Given the description of an element on the screen output the (x, y) to click on. 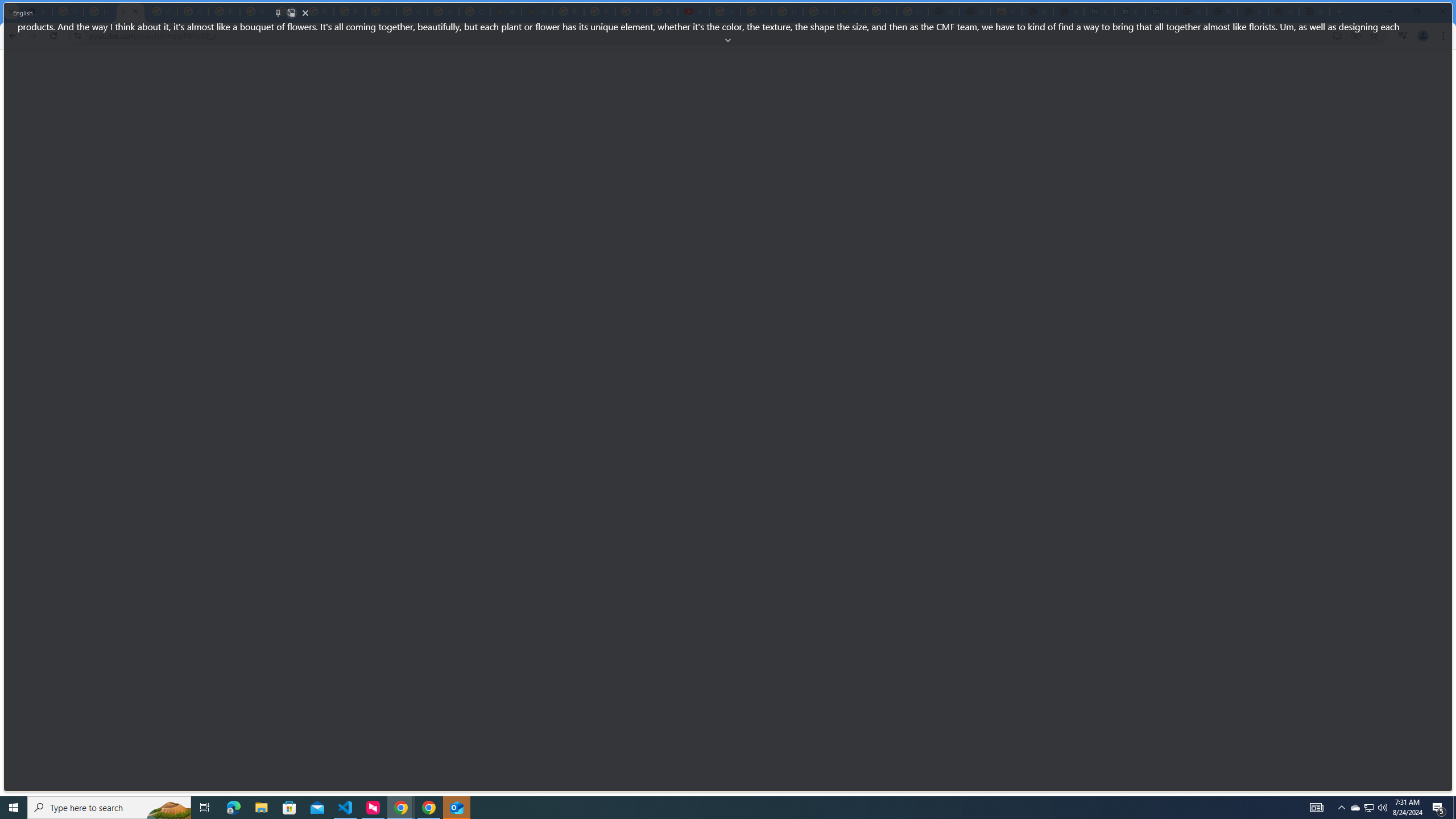
Copyright Policy (1160, 11)
Google Maps (536, 11)
Chrome Web Store (1005, 11)
Create your Google Account (474, 11)
Privacy Help Center - Policies Help (223, 11)
